Given the description of an element on the screen output the (x, y) to click on. 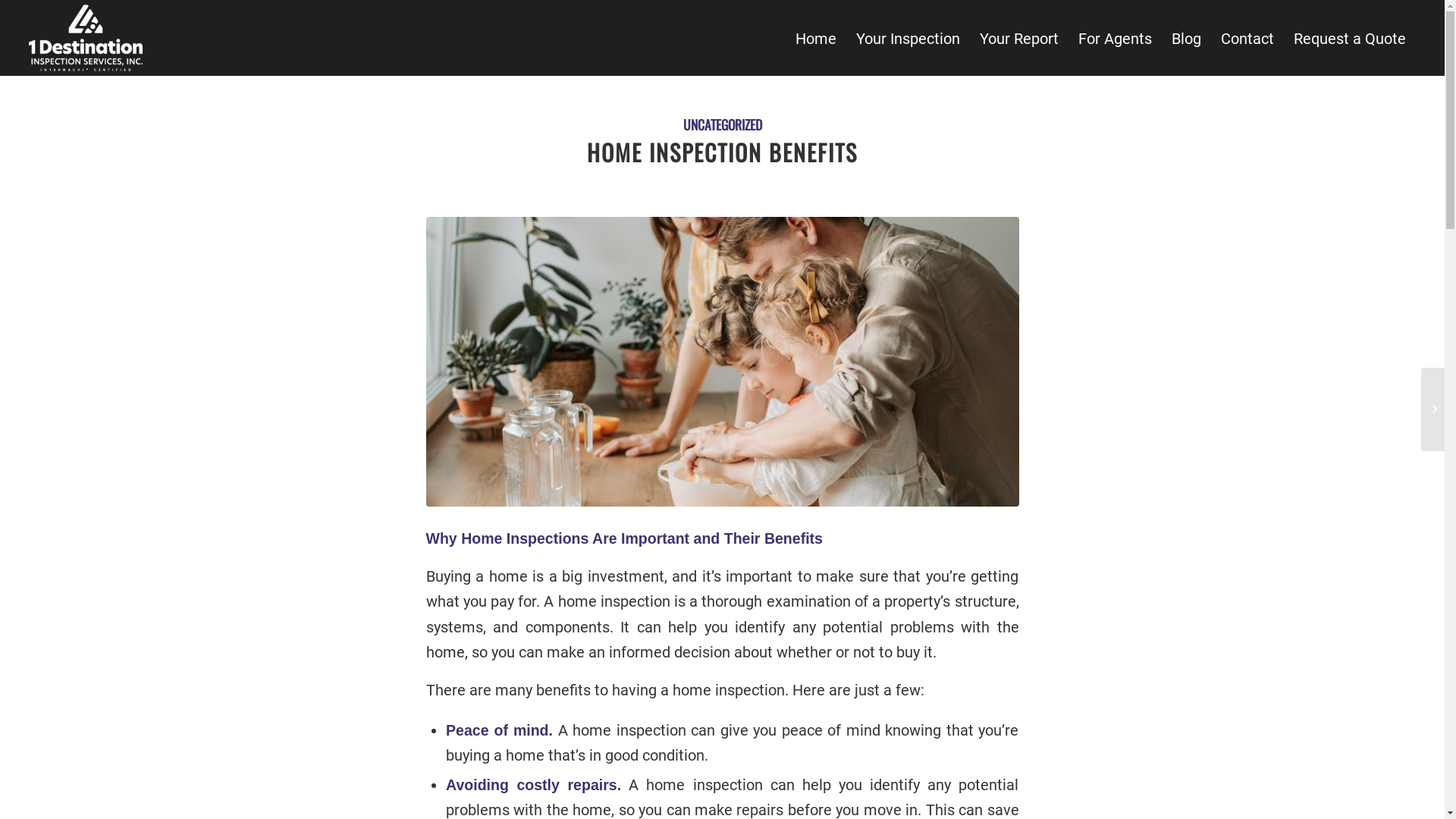
Home Element type: text (815, 38)
UNCATEGORIZED Element type: text (721, 124)
Your Report Element type: text (1018, 38)
Request a Quote Element type: text (1349, 38)
Blog Element type: text (1186, 38)
Contact Element type: text (1247, 38)
For Agents Element type: text (1114, 38)
1stdestpngwhite Element type: hover (85, 37)
pexels-photo-4617253 Element type: hover (722, 361)
Your Inspection Element type: text (907, 38)
